Given the description of an element on the screen output the (x, y) to click on. 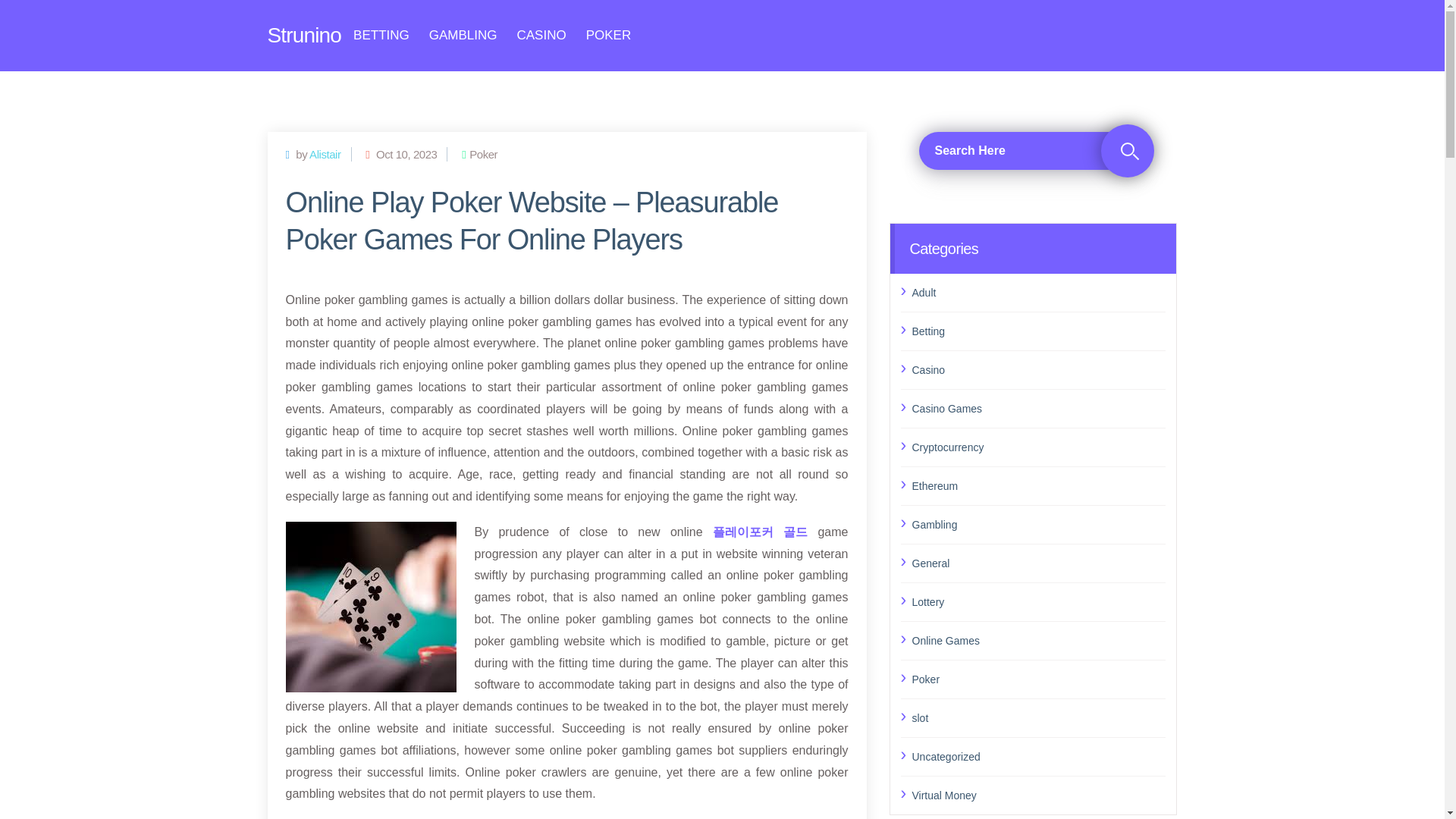
Ethereum (1038, 485)
Alistair (324, 153)
Casino (1038, 369)
Virtual Money (1038, 795)
Casino Games (1038, 408)
slot (1038, 718)
Uncategorized (1038, 755)
Poker (1038, 678)
Adult (1038, 291)
Online Games (1038, 640)
POKER (608, 35)
Lottery (1038, 600)
GAMBLING (463, 35)
Cryptocurrency (1038, 446)
Strunino (303, 35)
